Given the description of an element on the screen output the (x, y) to click on. 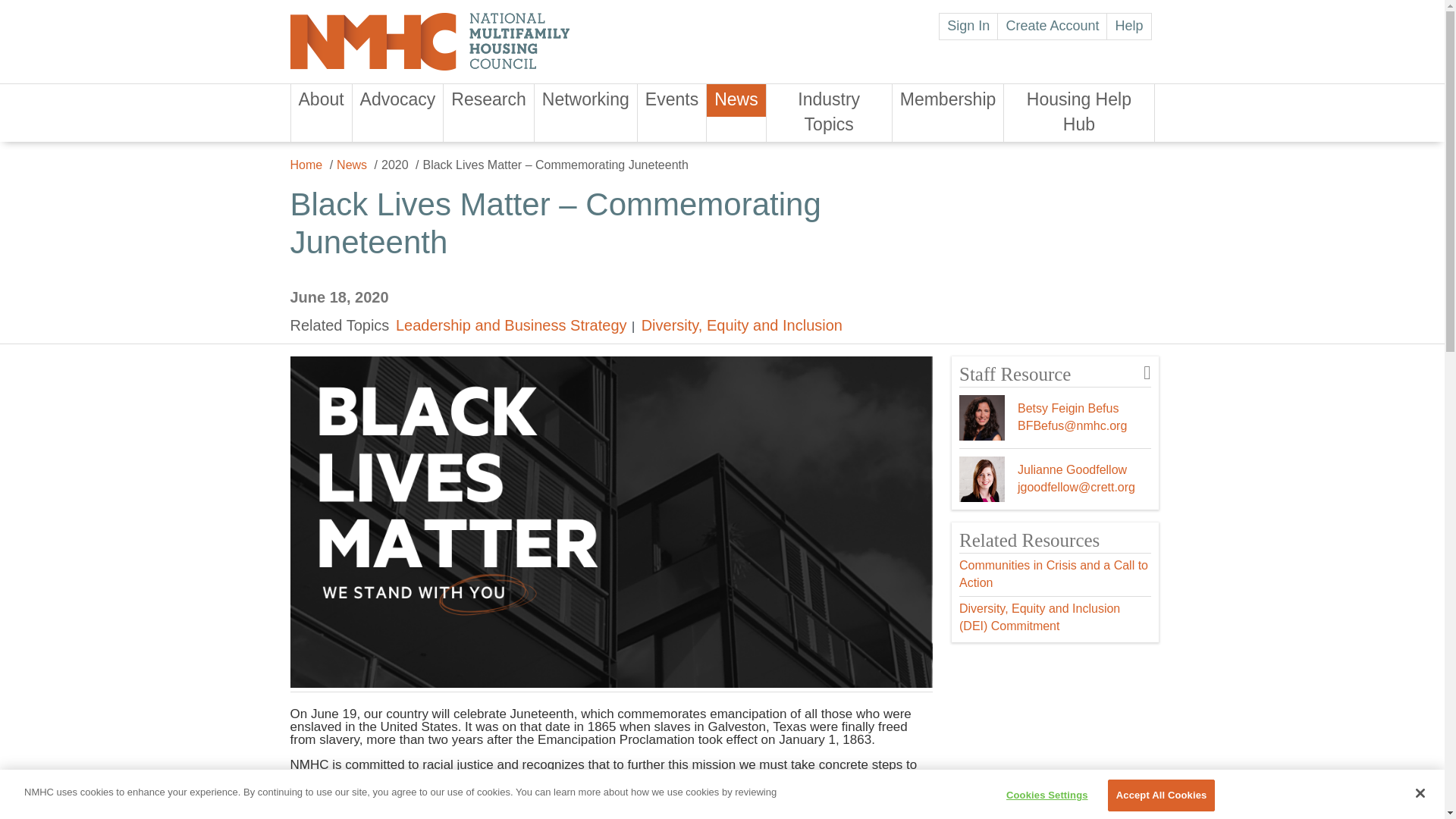
Networking (585, 100)
Research (488, 100)
Advocacy (398, 100)
Help (1128, 26)
Sign In (968, 26)
About (321, 100)
Create Account (1051, 26)
